Given the description of an element on the screen output the (x, y) to click on. 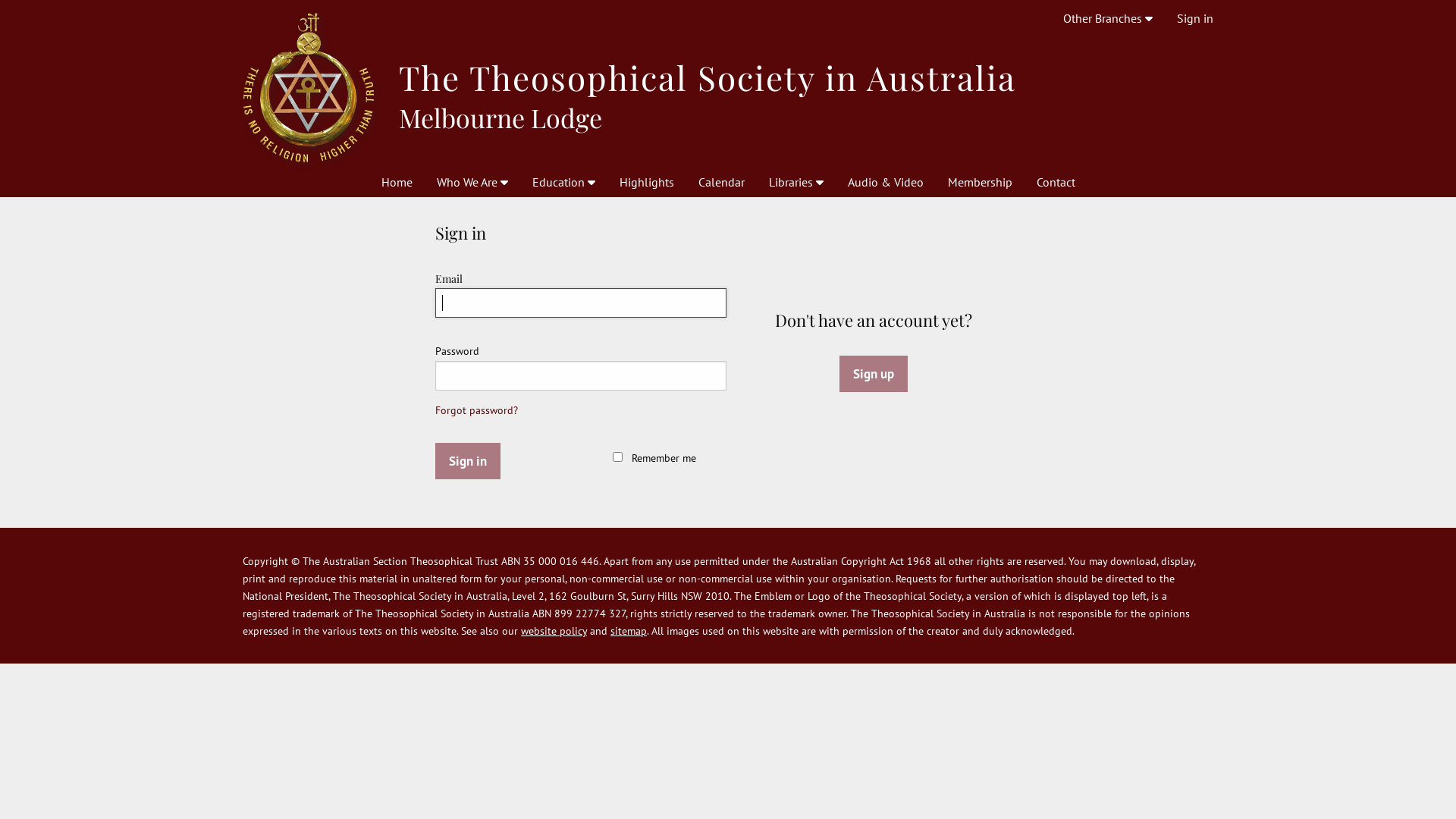
Who We Are Element type: text (472, 181)
sitemap Element type: text (628, 630)
Sign in Element type: text (1194, 18)
Sign in Element type: text (467, 460)
Libraries Element type: text (795, 181)
Education Element type: text (563, 181)
Other Branches Element type: text (1107, 18)
website policy Element type: text (553, 630)
Contact Element type: text (1054, 181)
Forgot password? Element type: text (476, 410)
Home Element type: text (395, 181)
Audio & Video Element type: text (885, 181)
Calendar Element type: text (720, 181)
Membership Element type: text (979, 181)
The Theosophical
Society in Australia
Melbourne Lodge Element type: text (727, 87)
Highlights Element type: text (645, 181)
Sign up Element type: text (873, 373)
